Given the description of an element on the screen output the (x, y) to click on. 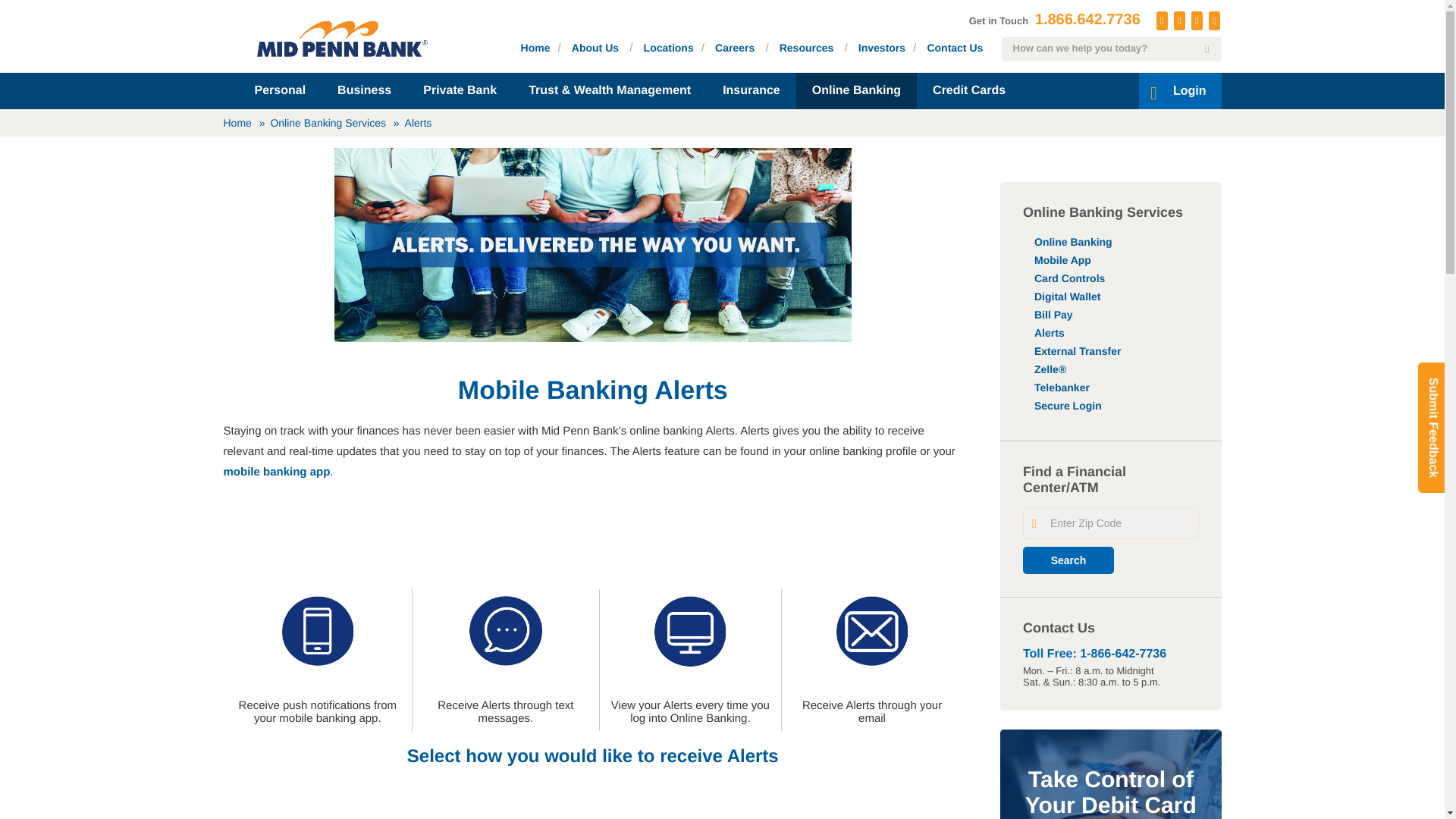
Contact Us (954, 47)
Locations (668, 47)
Careers (734, 47)
Home (535, 47)
1.866.642.7736 (1087, 19)
Investors (882, 47)
Resources (806, 47)
About Us (595, 47)
